Given the description of an element on the screen output the (x, y) to click on. 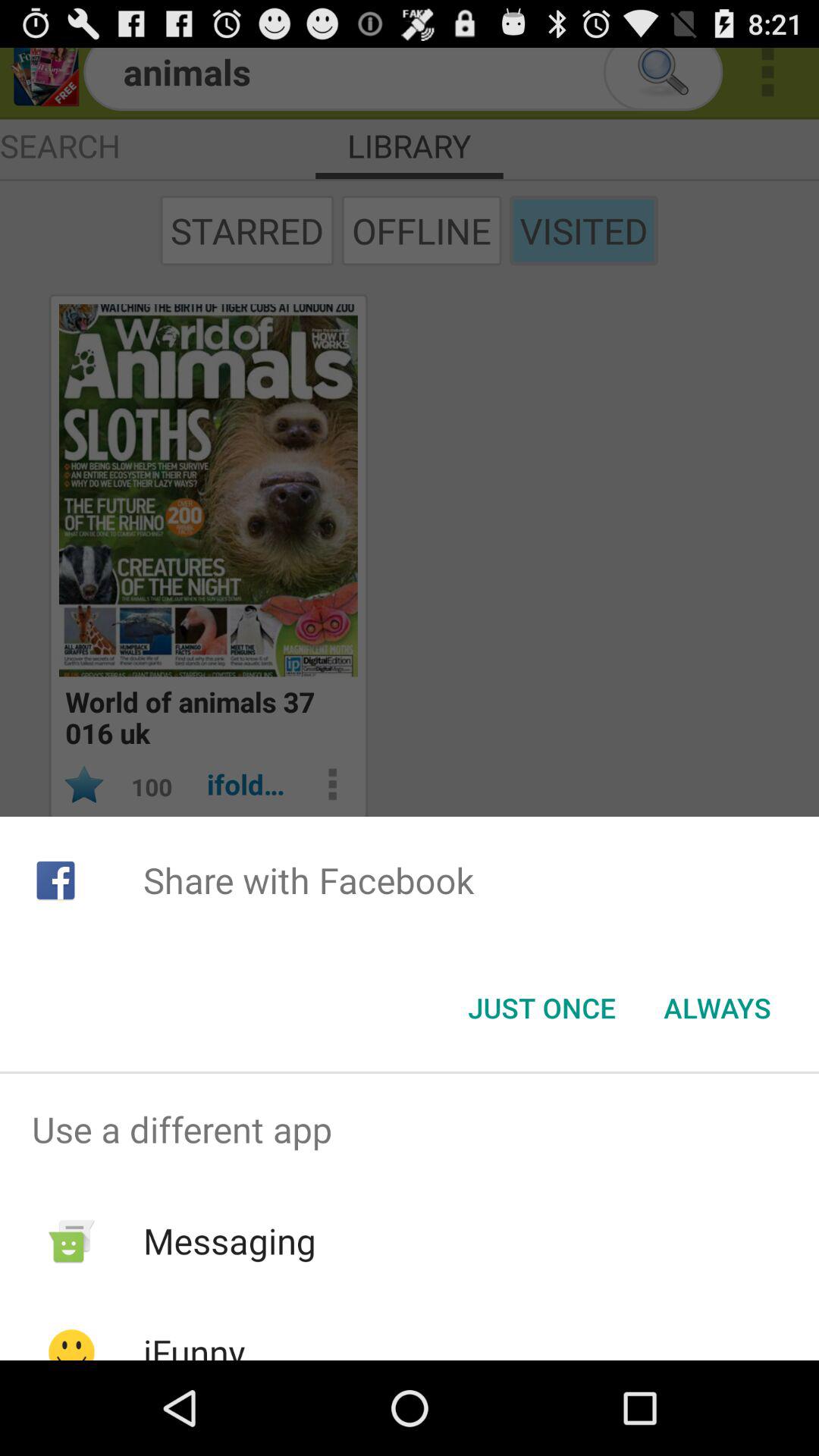
open icon above messaging (409, 1129)
